Given the description of an element on the screen output the (x, y) to click on. 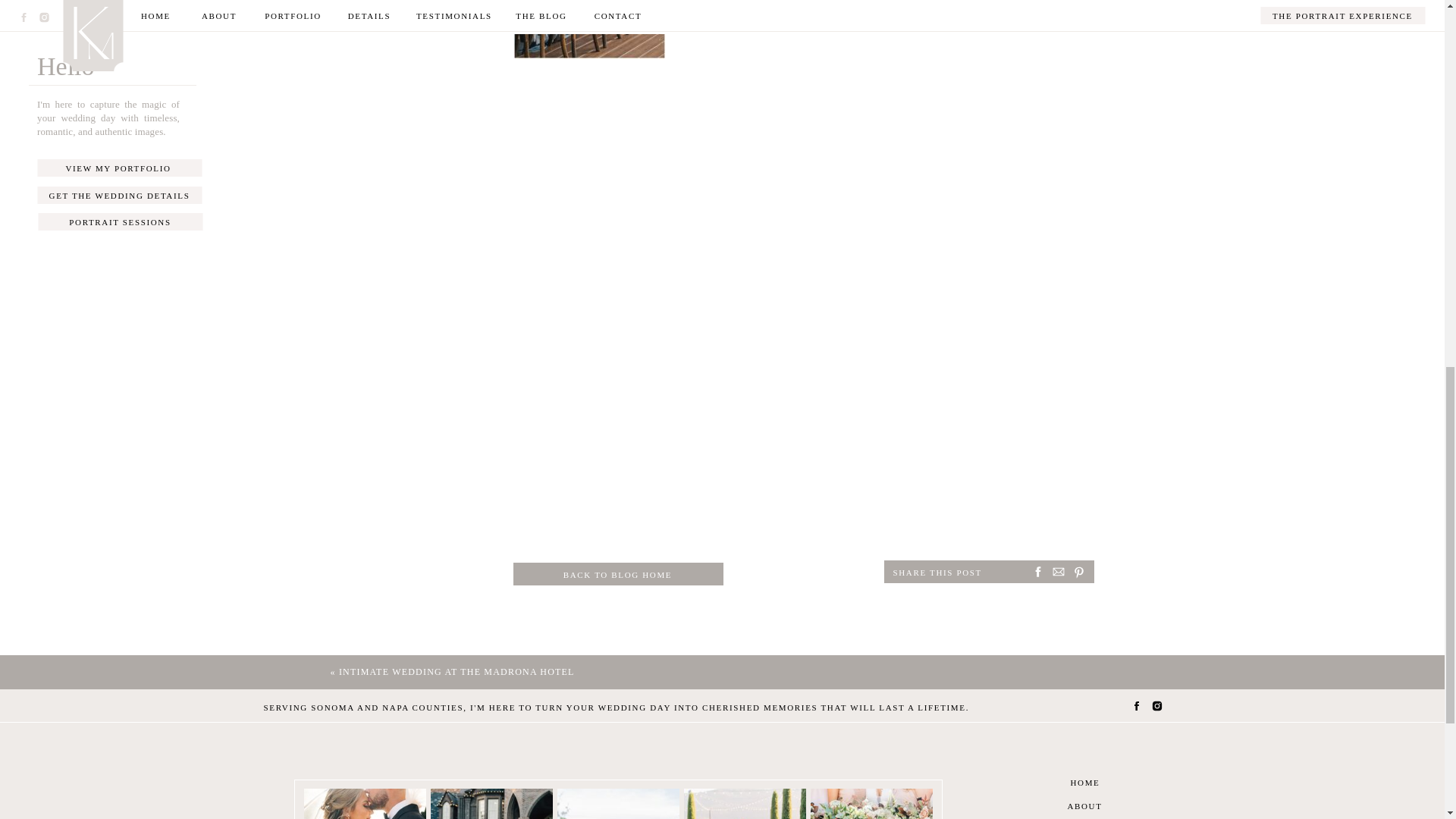
INTIMATE WEDDING AT THE MADRONA HOTEL (457, 671)
PORTRAIT SESSIONS (119, 221)
ABOUT (1083, 805)
GET THE WEDDING DETAILS (119, 195)
VIEW MY PORTFOLIO (118, 167)
HOME (1084, 781)
BACK TO BLOG HOME (617, 574)
